Given the description of an element on the screen output the (x, y) to click on. 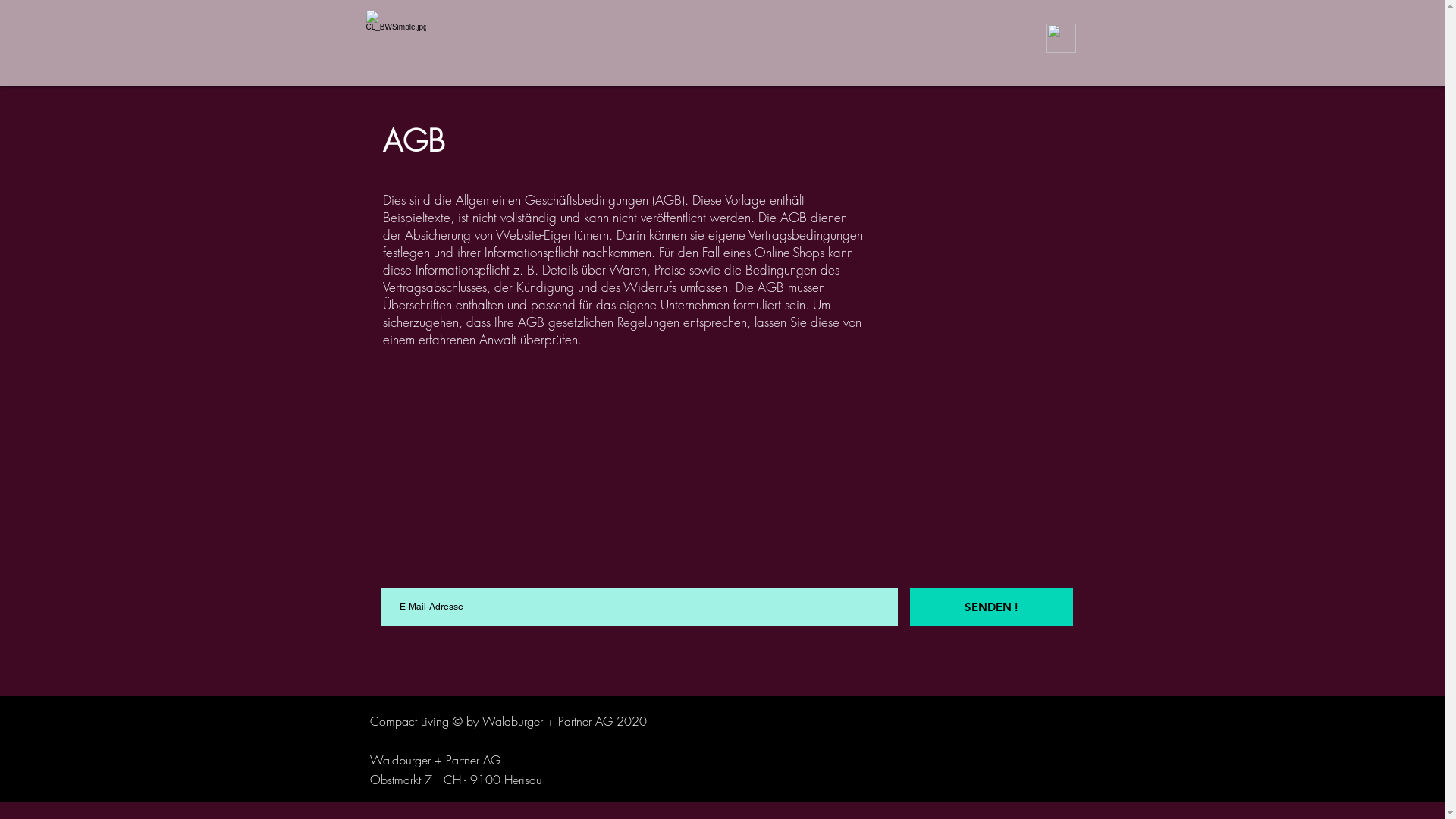
SENDEN ! Element type: text (991, 606)
